Given the description of an element on the screen output the (x, y) to click on. 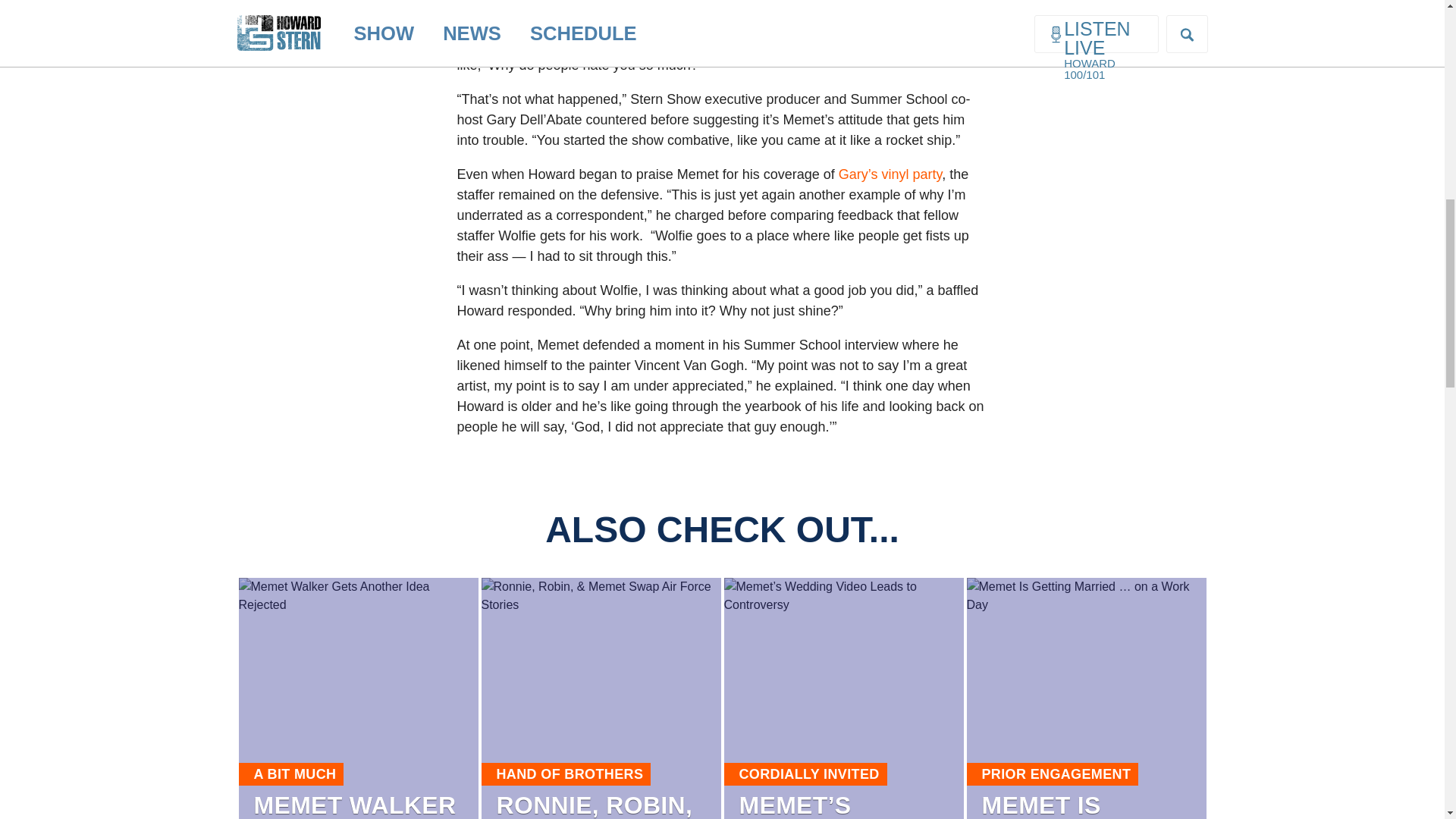
MEMET WALKER GETS ANOTHER IDEA REJECTED (354, 805)
